Given the description of an element on the screen output the (x, y) to click on. 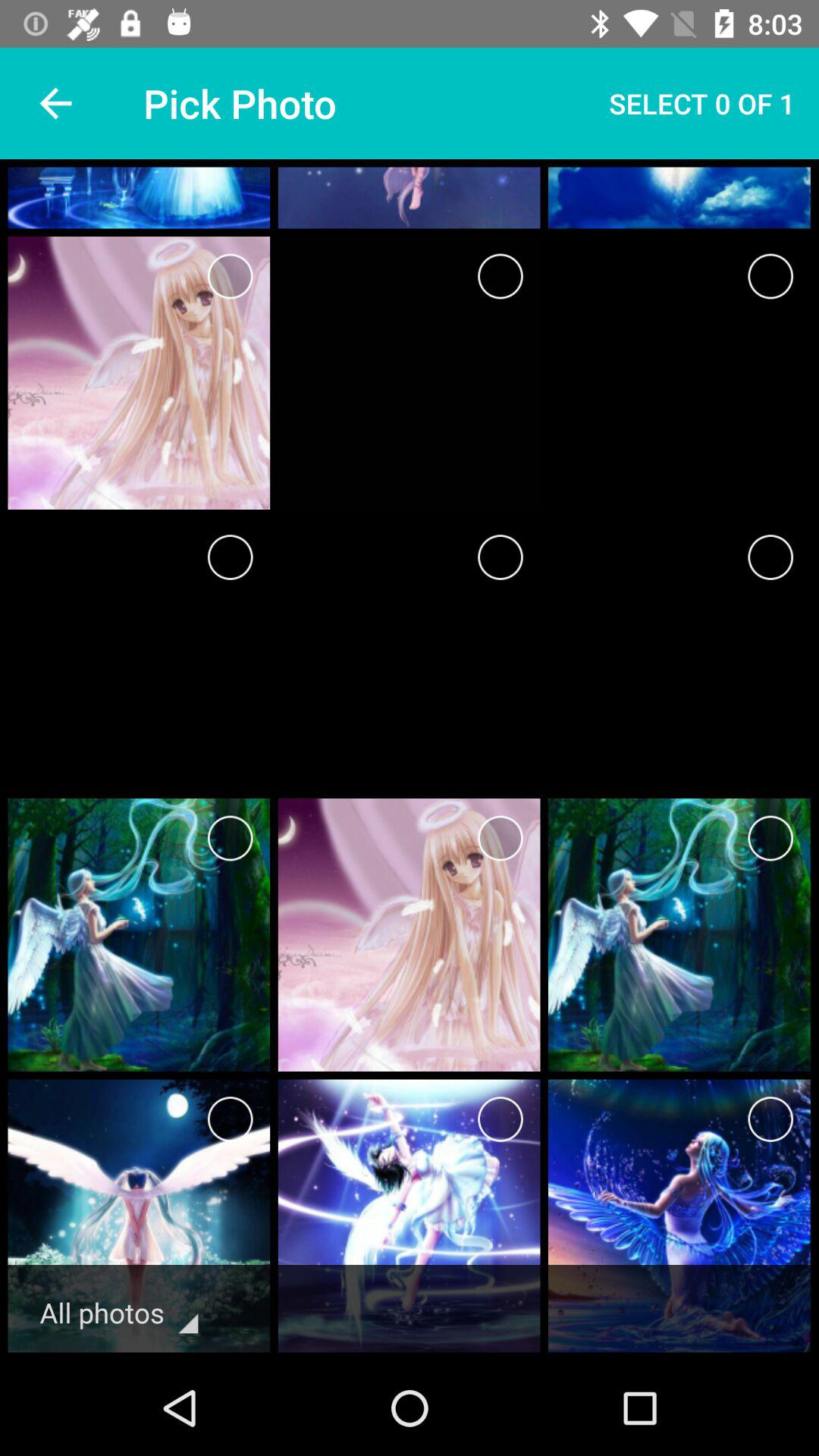
selecting box (500, 276)
